Given the description of an element on the screen output the (x, y) to click on. 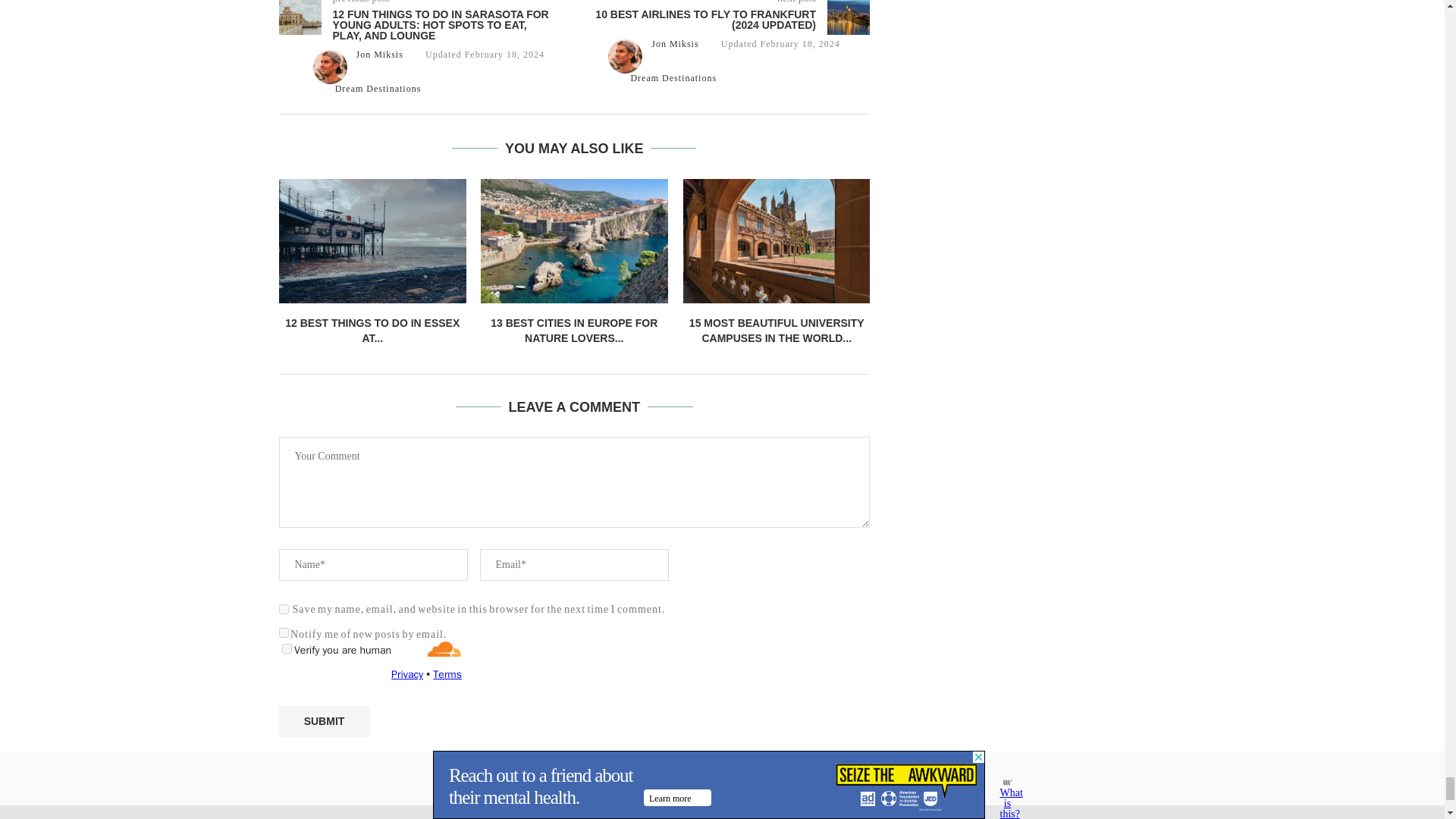
yes (283, 609)
Submit (324, 721)
subscribe (283, 633)
